Given the description of an element on the screen output the (x, y) to click on. 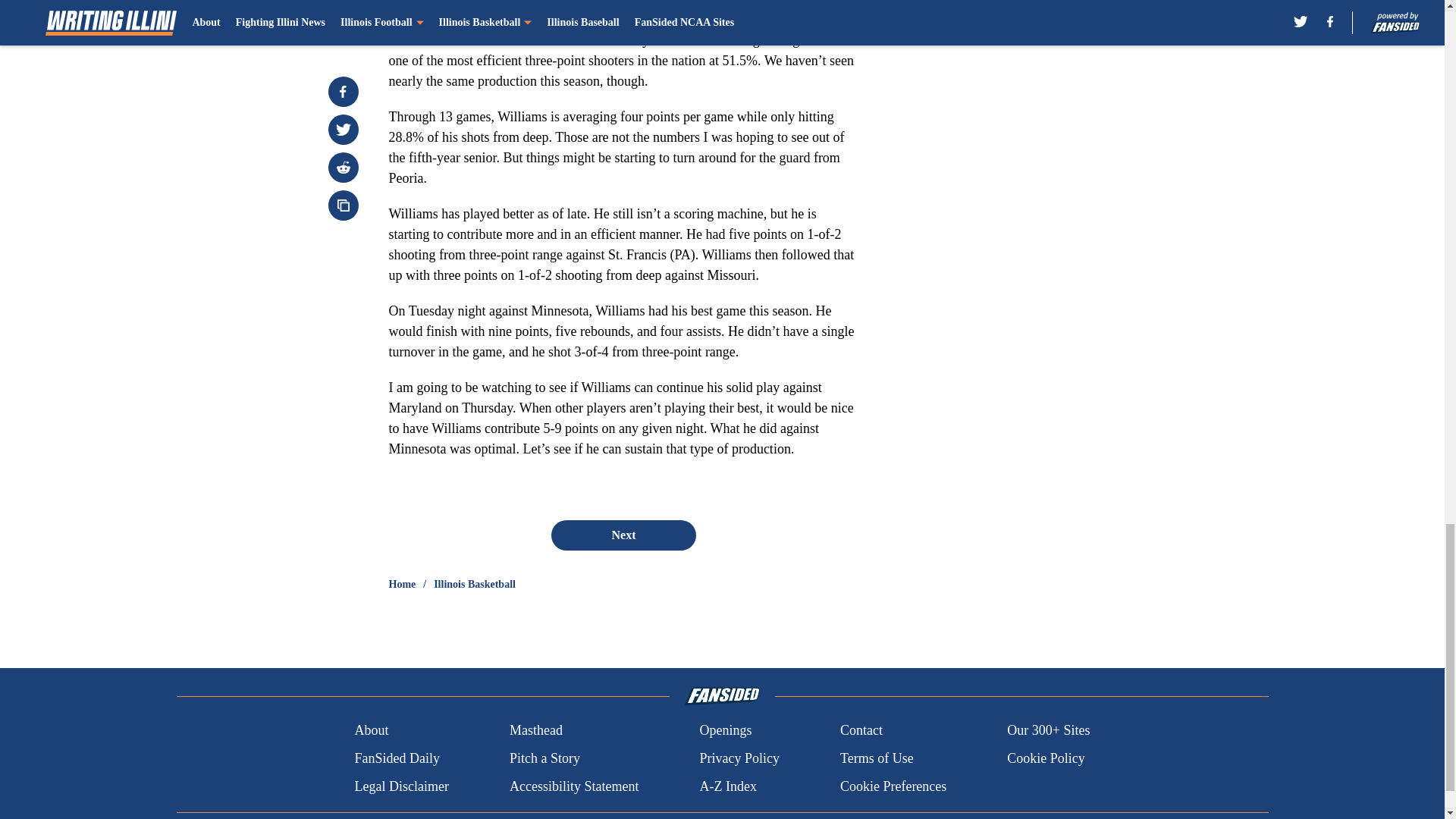
Contact (861, 730)
FanSided Daily (396, 758)
Home (401, 584)
Legal Disclaimer (400, 786)
Illinois Basketball (474, 584)
Next (622, 535)
Pitch a Story (544, 758)
About (370, 730)
Cookie Policy (1045, 758)
Masthead (535, 730)
Accessibility Statement (574, 786)
Openings (724, 730)
Terms of Use (877, 758)
Privacy Policy (738, 758)
